Given the description of an element on the screen output the (x, y) to click on. 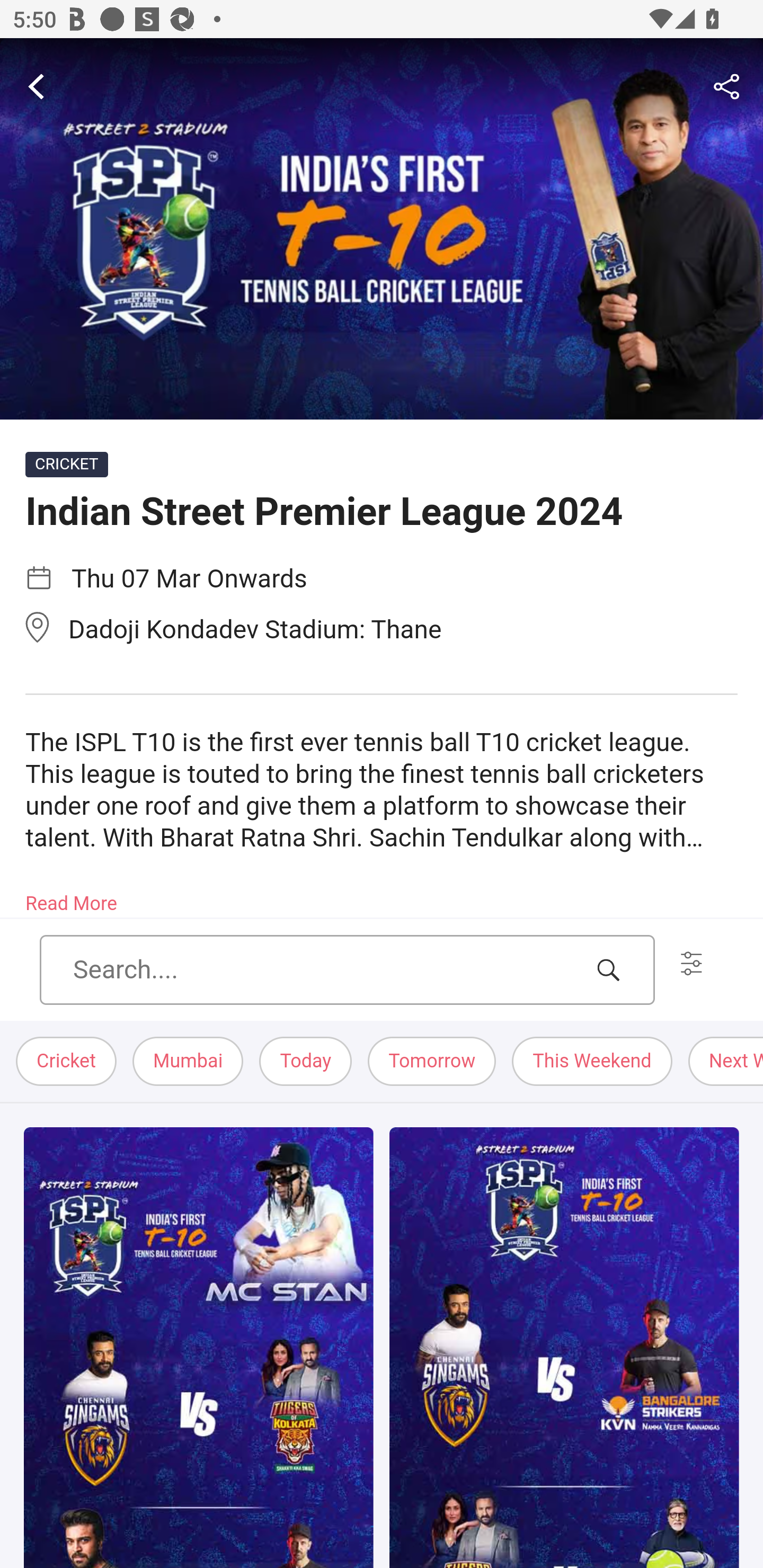
Indian Street Premier League 2024 (381, 228)
Read More (71, 897)
Cricket (66, 1061)
Mumbai (187, 1061)
Today (305, 1061)
Tomorrow (432, 1061)
This Weekend (591, 1061)
